Given the description of an element on the screen output the (x, y) to click on. 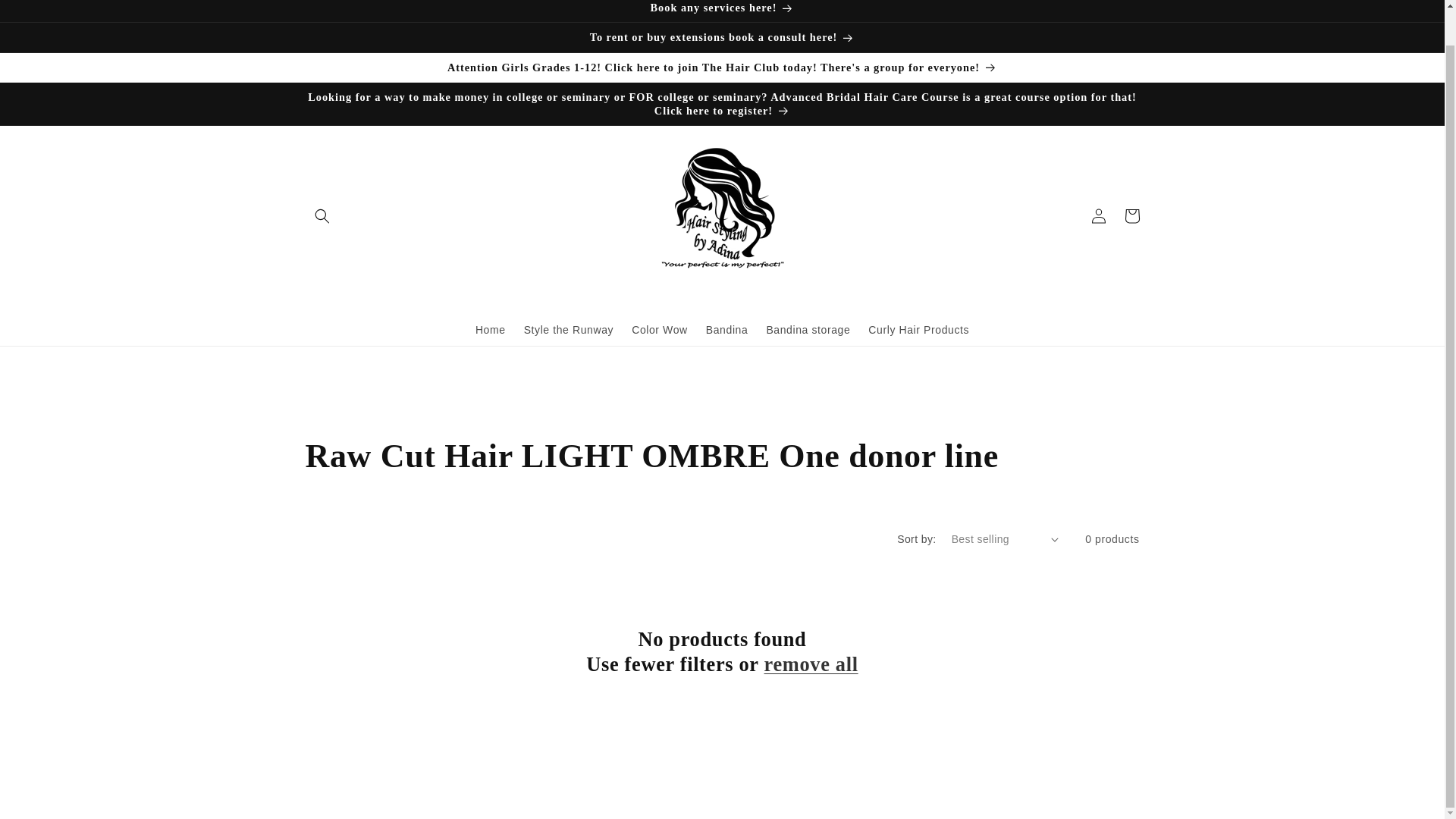
Log in (1098, 215)
Home (490, 329)
Color Wow (660, 329)
Style the Runway (569, 329)
remove all (811, 664)
Bandina (727, 329)
Cart (1131, 215)
Bandina storage (808, 329)
Curly Hair Products (918, 329)
